Given the description of an element on the screen output the (x, y) to click on. 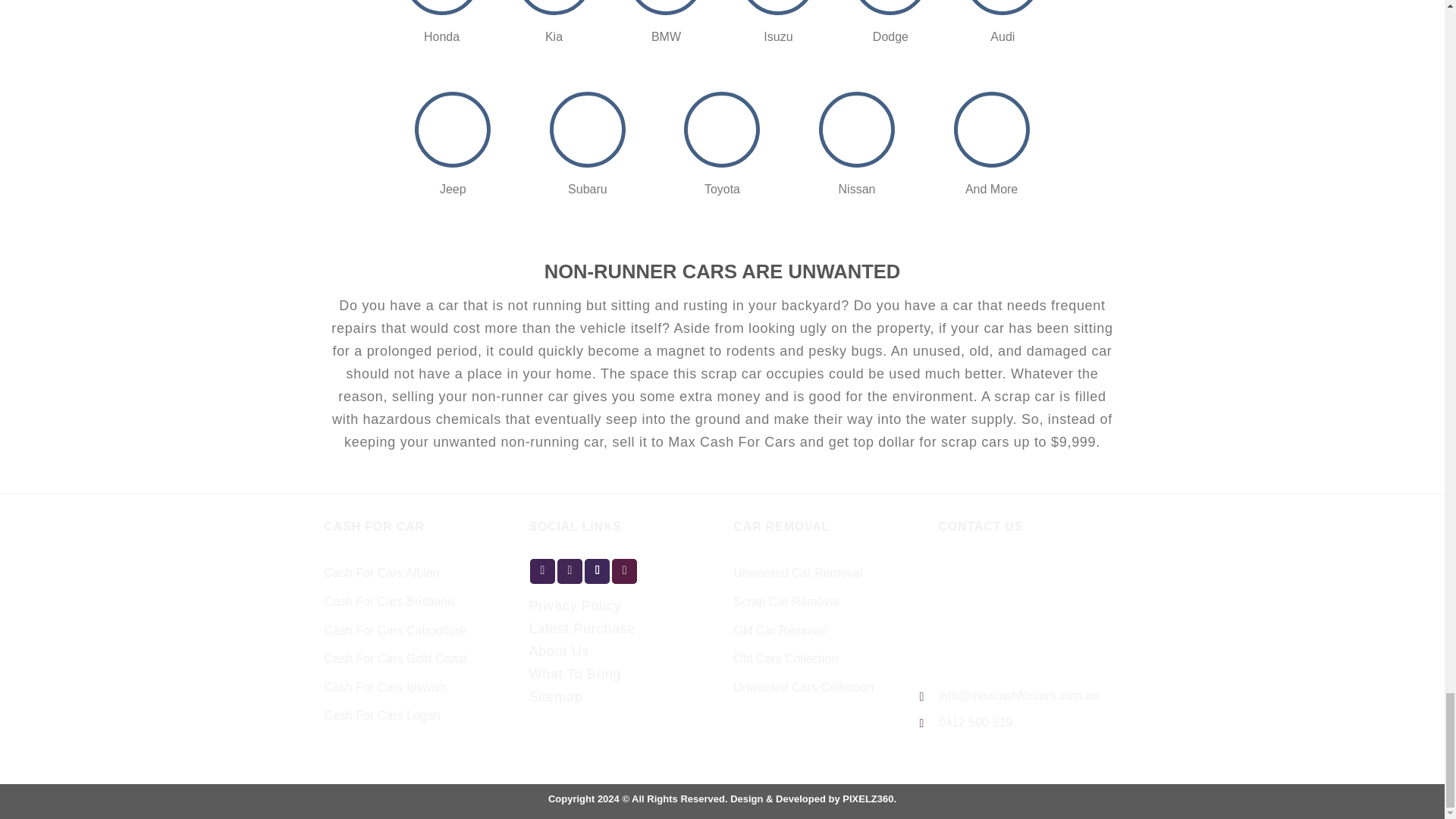
Follow on Facebook (541, 570)
Follow on Instagram (569, 570)
Follow on Twitter (597, 570)
iframe (1030, 615)
Follow on YouTube (624, 570)
